Given the description of an element on the screen output the (x, y) to click on. 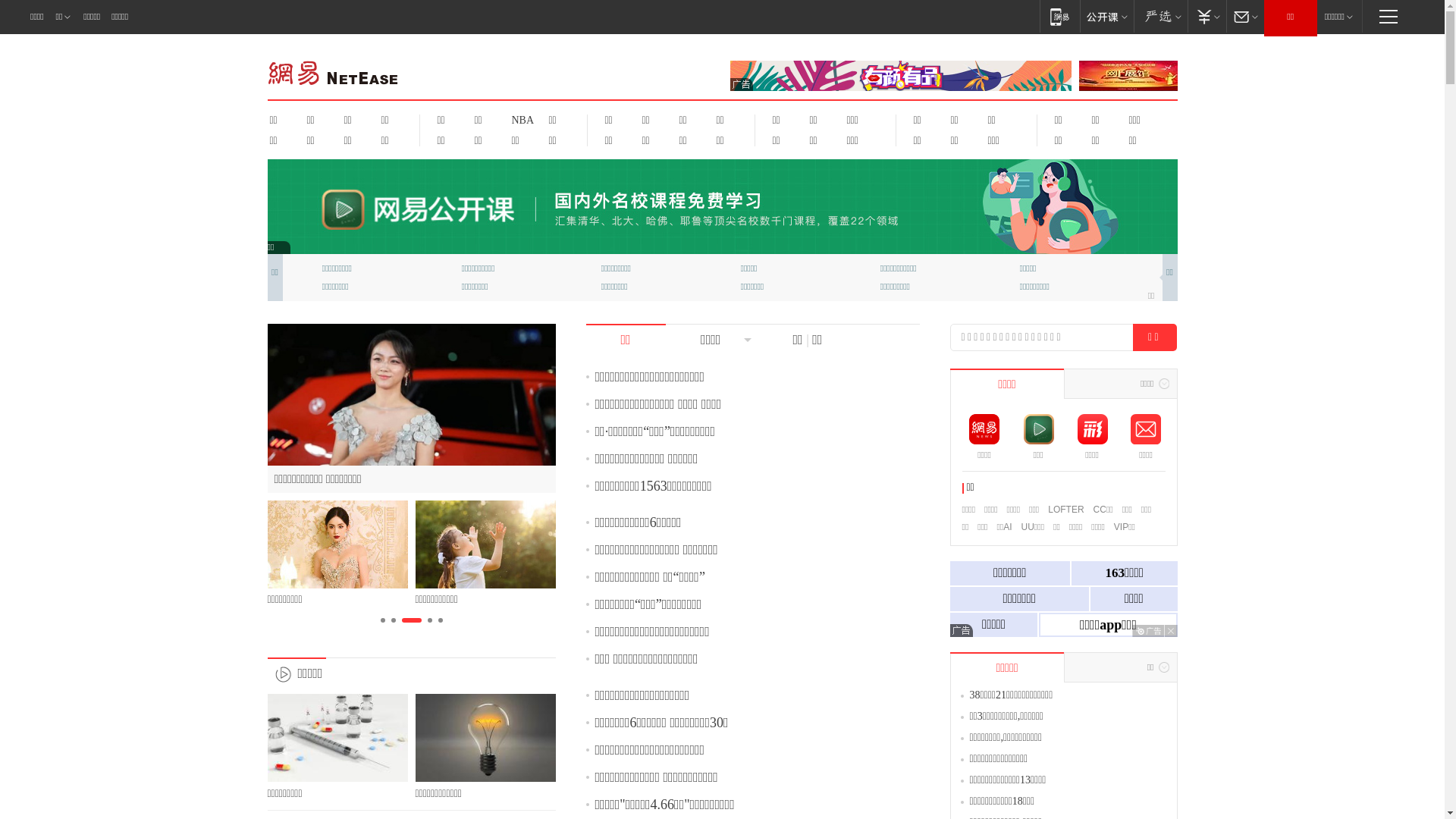
LOFTER Element type: text (1065, 509)
NBA Element type: text (520, 119)
